Given the description of an element on the screen output the (x, y) to click on. 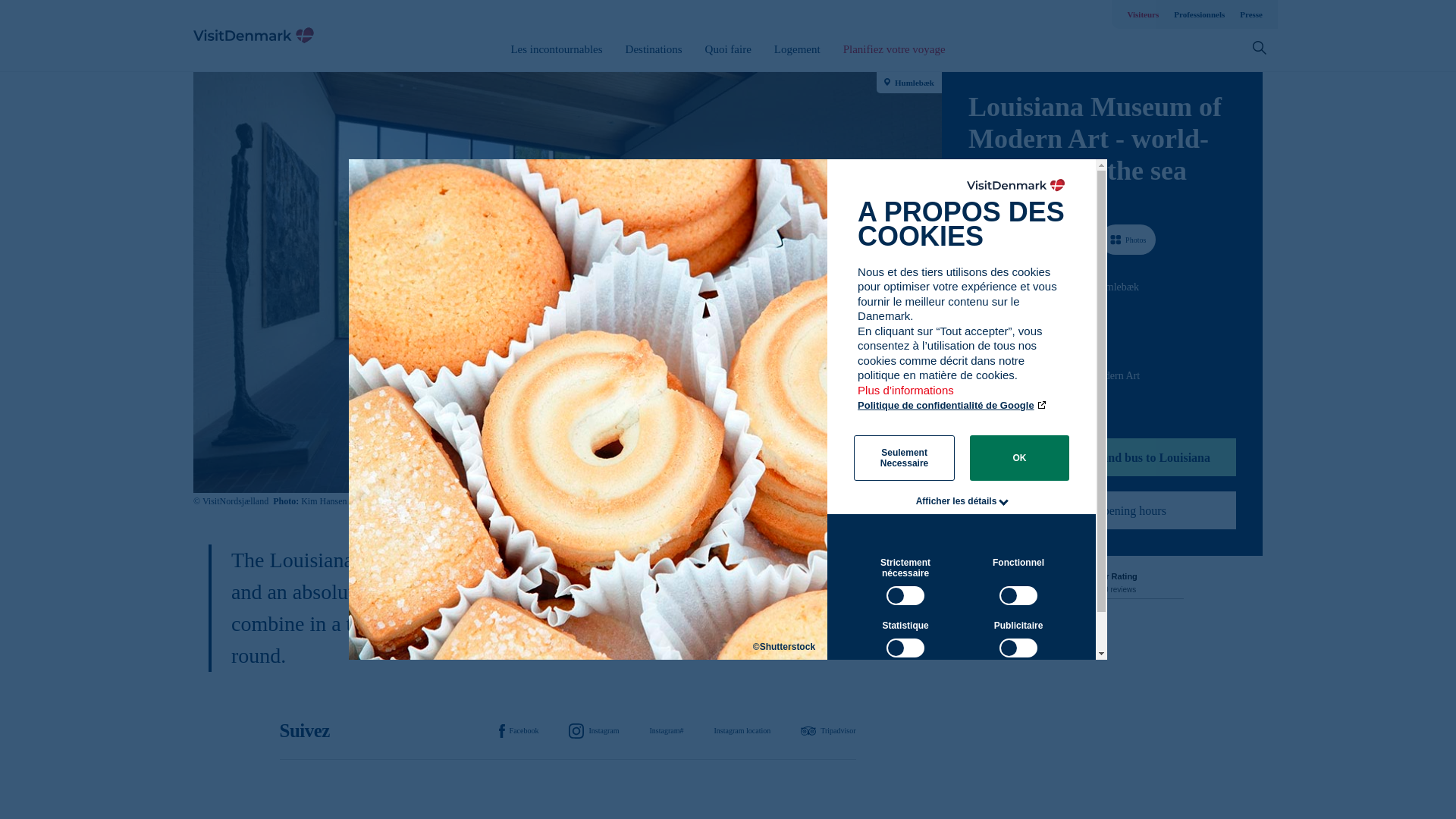
Path (973, 314)
OK (1018, 457)
Seulement Necessaire (904, 457)
Path (973, 374)
